Given the description of an element on the screen output the (x, y) to click on. 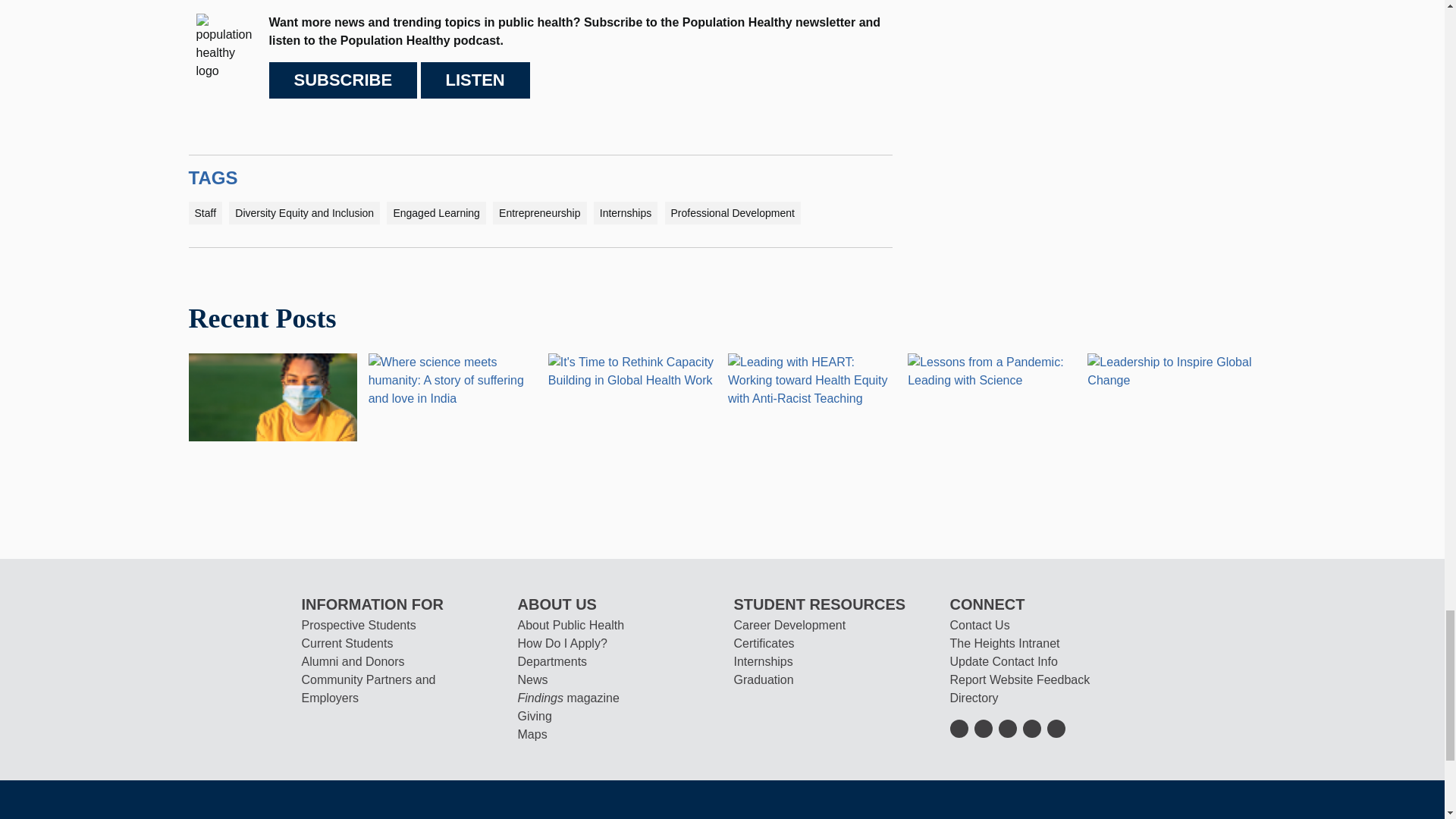
A Teenager's Guide to Coping with the Pandemic (271, 395)
It's Time to Rethink Capacity Building in Global Health Work (632, 369)
Lessons from a Pandemic: Leading with Science (991, 369)
Leadership to Inspire Global Change (1171, 369)
